Given the description of an element on the screen output the (x, y) to click on. 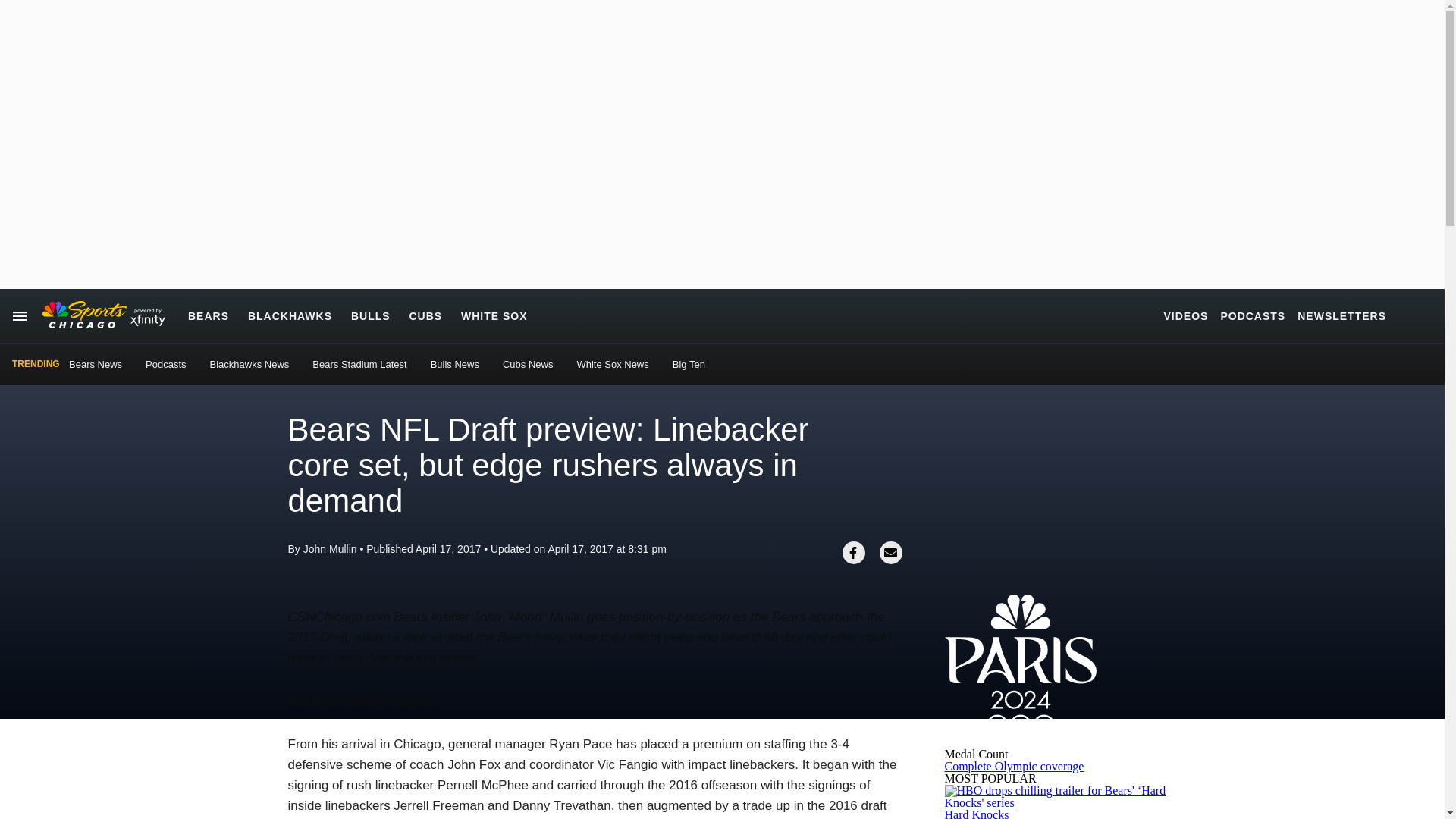
Podcasts (165, 364)
NEWSLETTERS (1341, 315)
Complete Olympic coverage (1014, 766)
WHITE SOX (494, 315)
BULLS (370, 315)
John Mullin (329, 548)
Big Ten (688, 364)
Bulls News (454, 364)
PODCASTS (1252, 315)
BEARS (207, 315)
Blackhawks News (249, 364)
BLACKHAWKS (289, 315)
Cubs News (527, 364)
CUBS (425, 315)
Hard Knocks (976, 813)
